Given the description of an element on the screen output the (x, y) to click on. 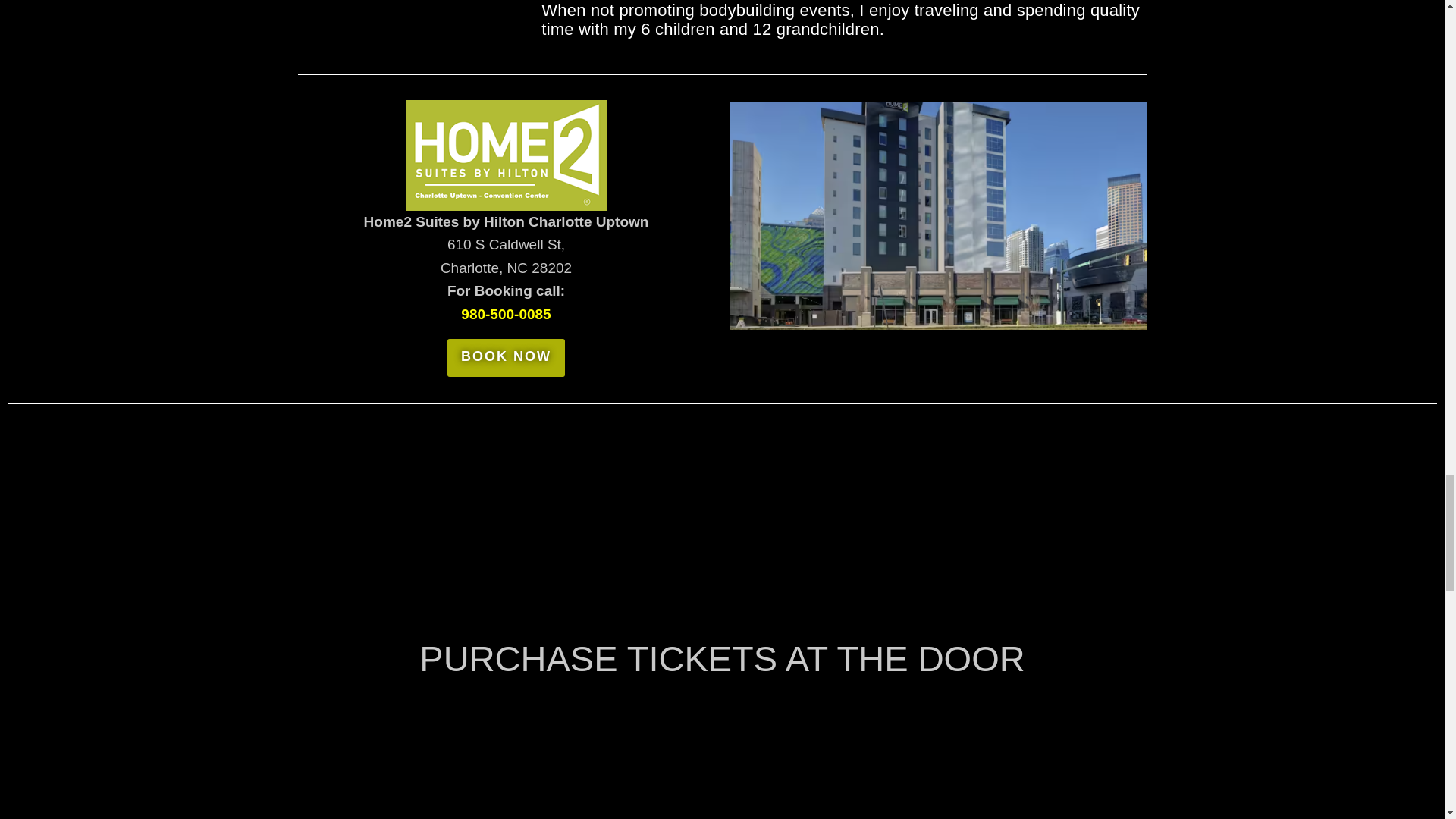
BOOK NOW (505, 357)
